Given the description of an element on the screen output the (x, y) to click on. 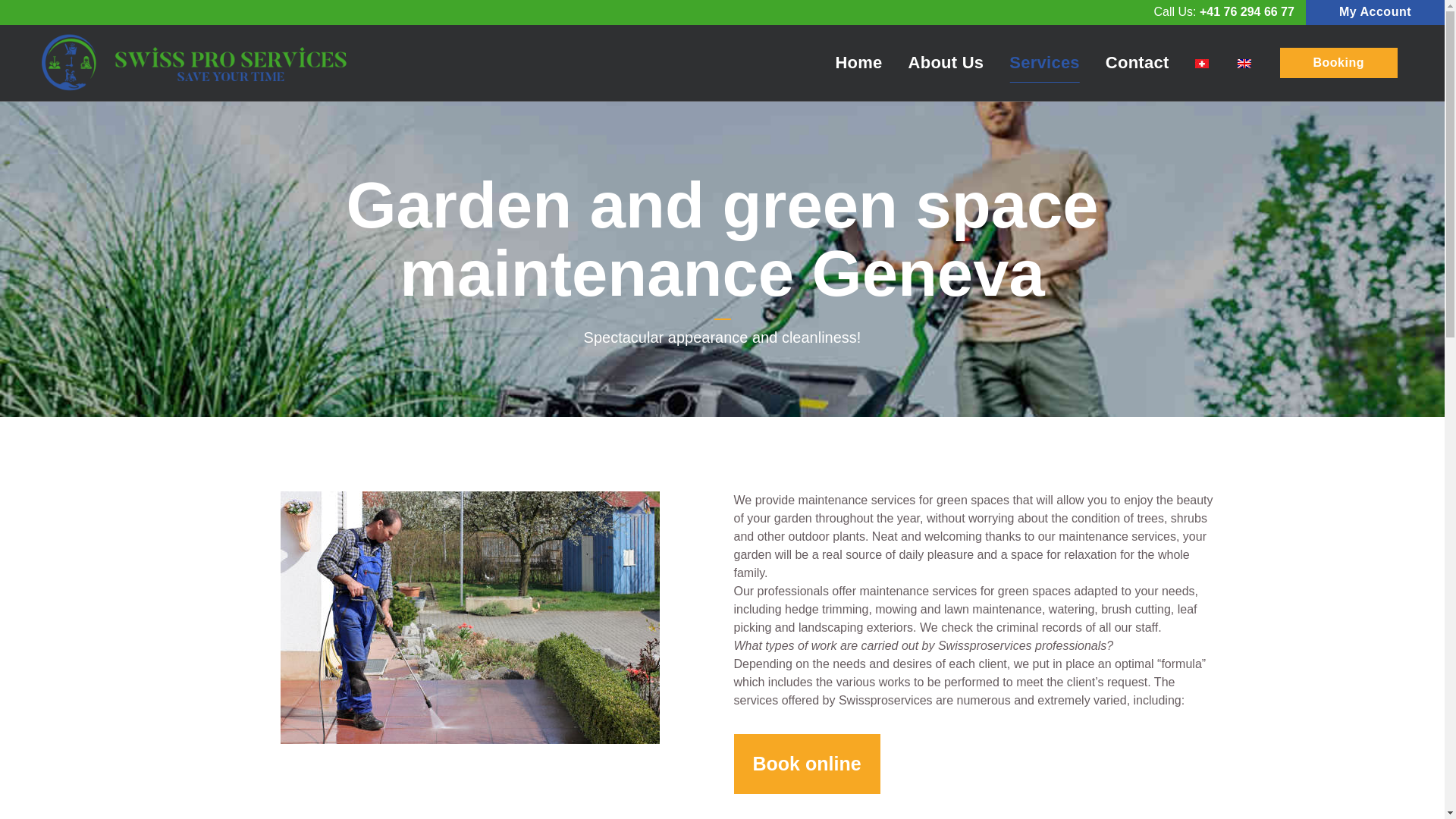
Book online (806, 763)
Booking (1338, 62)
Services (1044, 62)
Home (858, 62)
Contact (1137, 62)
entretien de jardin et espaces verts (470, 617)
About Us (946, 62)
